Given the description of an element on the screen output the (x, y) to click on. 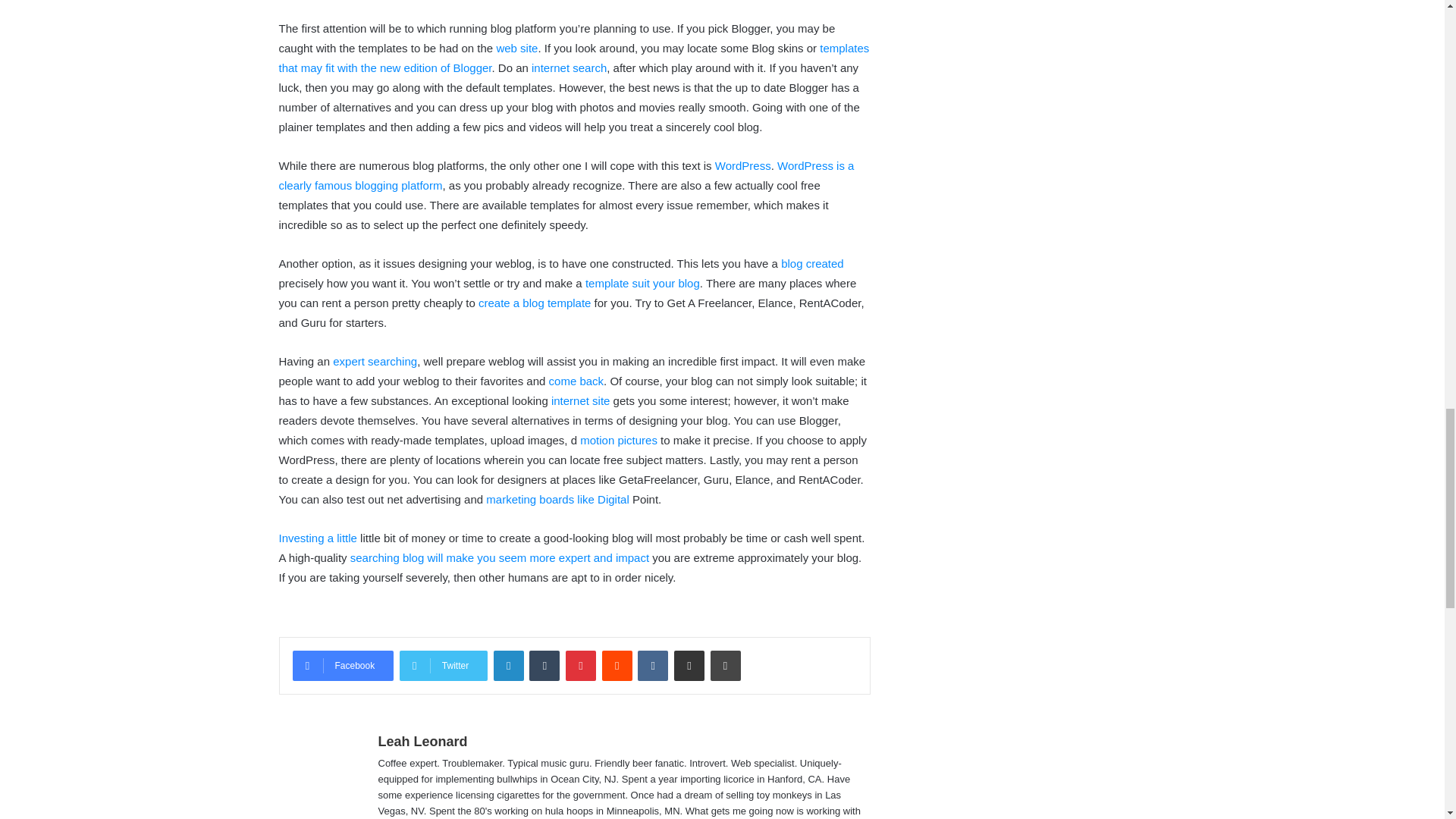
Pinterest (580, 665)
Twitter (442, 665)
LinkedIn (508, 665)
Tumblr (544, 665)
Facebook (343, 665)
